Given the description of an element on the screen output the (x, y) to click on. 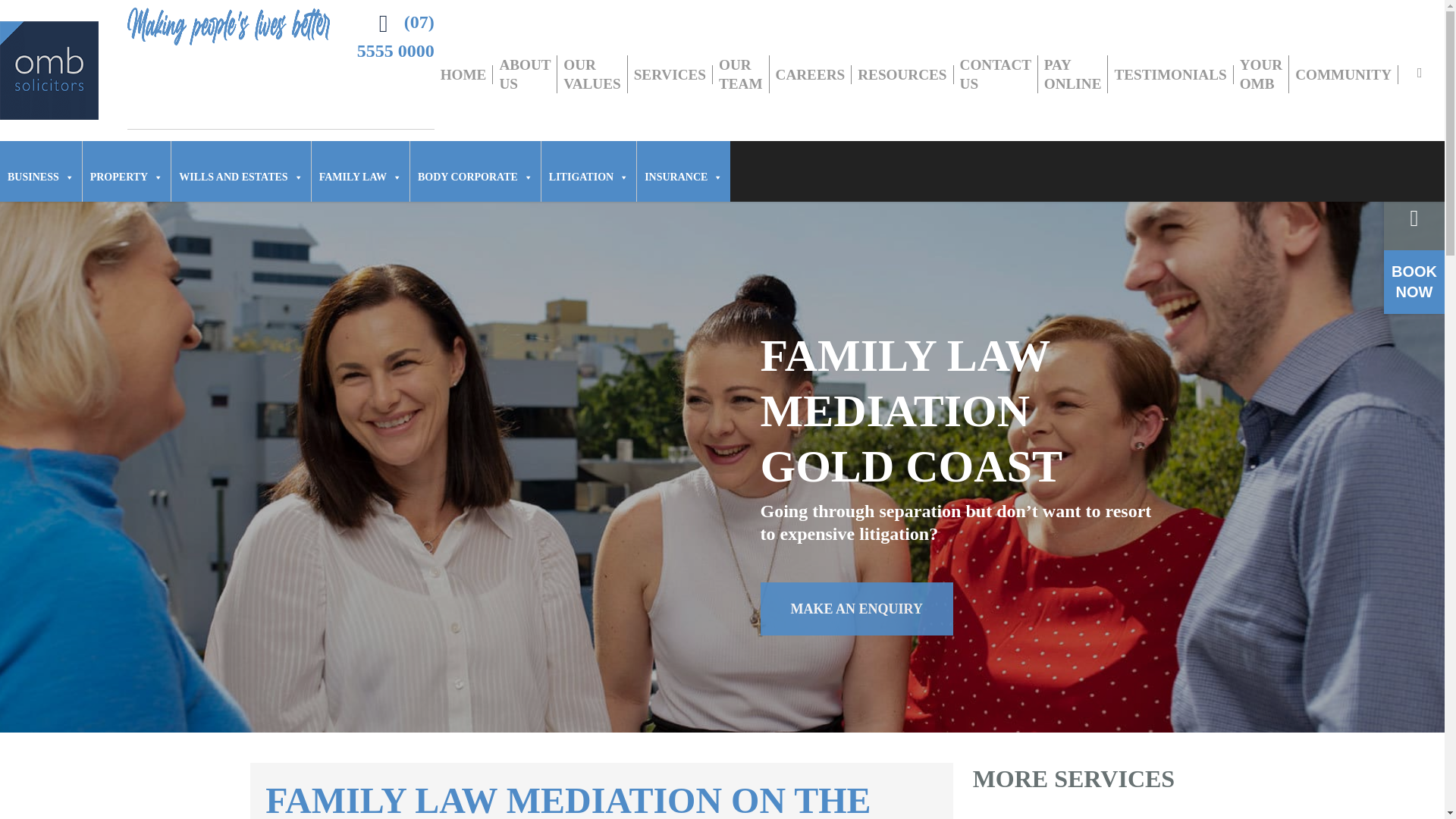
OUR VALUES (592, 74)
PROPERTY (126, 170)
CAREERS (810, 74)
HOME (463, 74)
SERVICES (670, 74)
RESOURCES (902, 74)
ABOUT US (525, 74)
CONTACT US (995, 74)
YOUR OMB (1261, 74)
BUSINESS (40, 170)
